Given the description of an element on the screen output the (x, y) to click on. 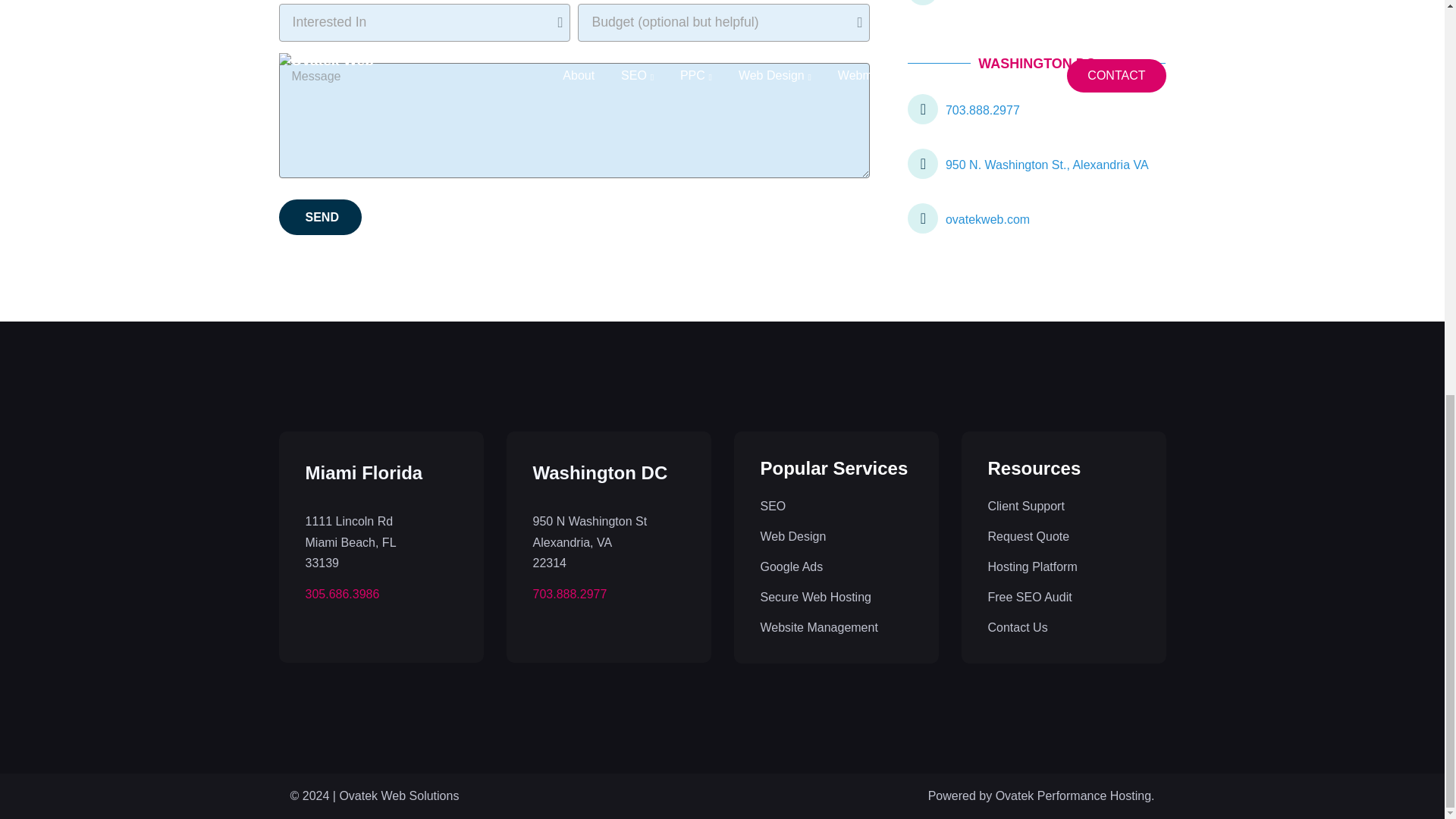
SEND (320, 217)
950 N. Washington St., Alexandria VA (1036, 163)
ovatekweb.com (1036, 218)
703.888.2977 (1036, 108)
ovatekweb.miami (1036, 5)
